Given the description of an element on the screen output the (x, y) to click on. 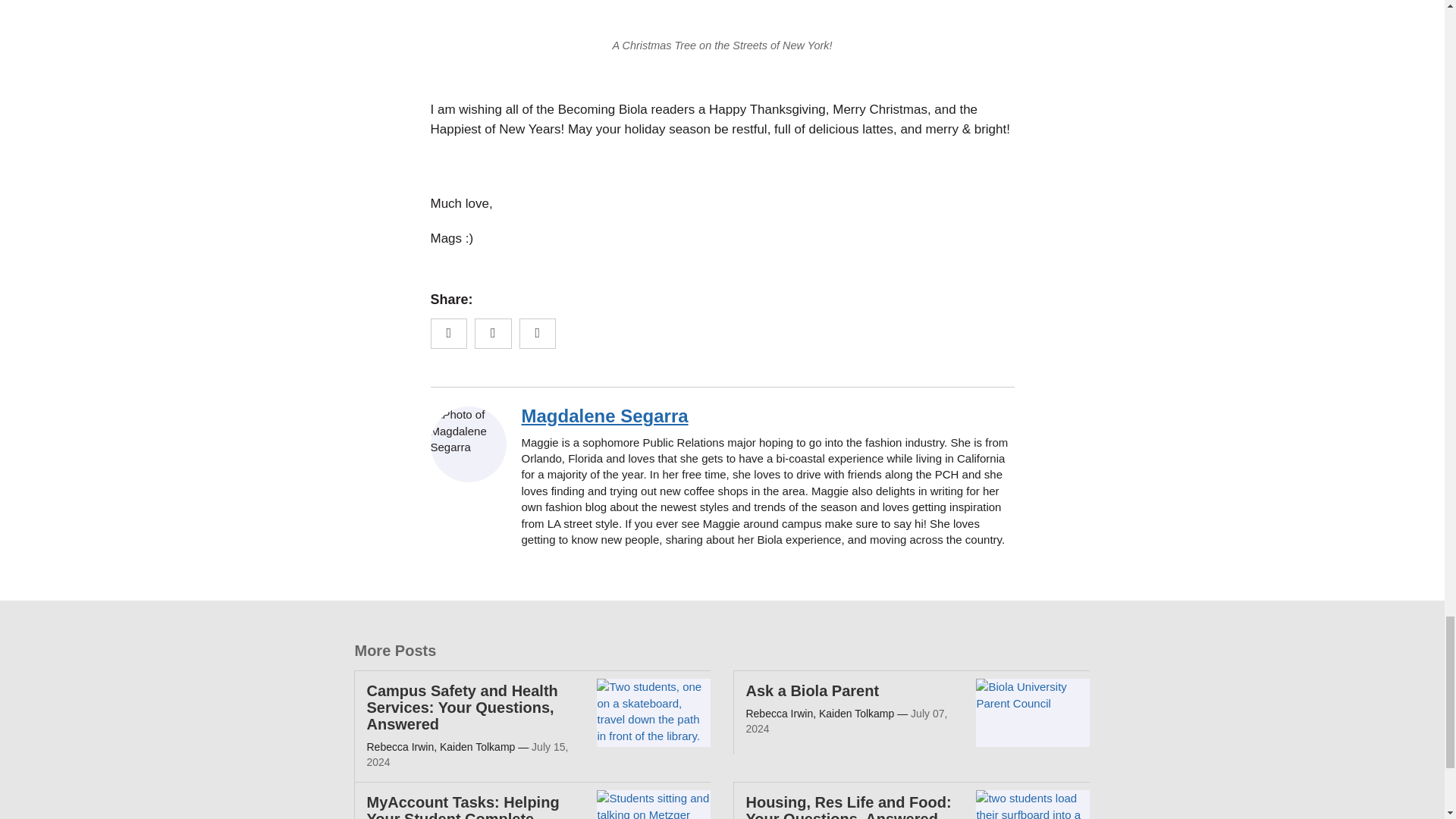
Campus Safety and Health Services: Your Questions, Answered (461, 707)
Magdalene Segarra (604, 415)
Housing, Res Life and Food: Your Questions, Answered (847, 806)
MyAccount Tasks: Helping Your Student Complete Enrollment (462, 806)
Ask a Biola Parent (812, 690)
